Given the description of an element on the screen output the (x, y) to click on. 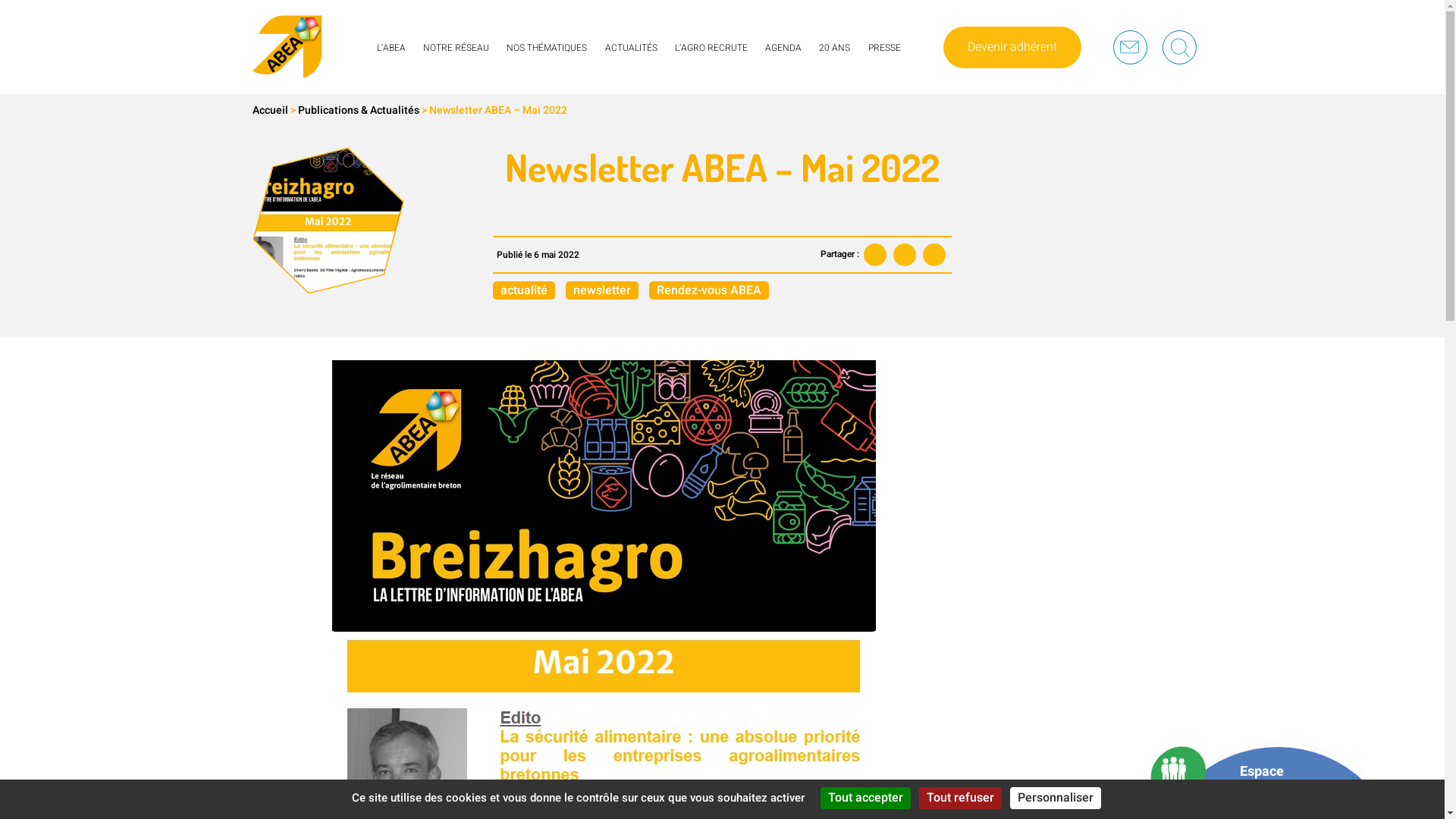
Tout refuser Element type: text (960, 798)
VOS RENDEZ-VOUS ABEA Element type: text (821, 70)
Recherche Element type: text (1178, 47)
NUTRITION, QUALITE, SANTE Element type: text (570, 70)
Twitter Element type: hover (904, 254)
SE FORMER Element type: text (704, 70)
Tout accepter Element type: text (865, 798)
ATTRACTIVITE & EMPLOI Element type: text (561, 70)
VEILLE & OBSERVATION DU SECTEUR Element type: text (587, 70)
MEMBRES PARTENAIRES Element type: text (479, 70)
Accueil Element type: text (269, 110)
PERFORMANCE INDUSTRIELLE Element type: text (575, 70)
LA GOUVERNANCE Element type: text (421, 70)
QUI SOMMES-NOUS ? Element type: text (424, 70)
ENVIRONNEMENT Element type: text (549, 70)
RH & DIALOGUE SOCIAL Element type: text (559, 70)
Personnaliser Element type: text (1055, 798)
PRESSE Element type: text (884, 65)
20 ANS Element type: text (834, 65)
Facebook Element type: hover (874, 254)
Linkedin Element type: hover (933, 254)
AGENDA Element type: text (783, 65)
